Given the description of an element on the screen output the (x, y) to click on. 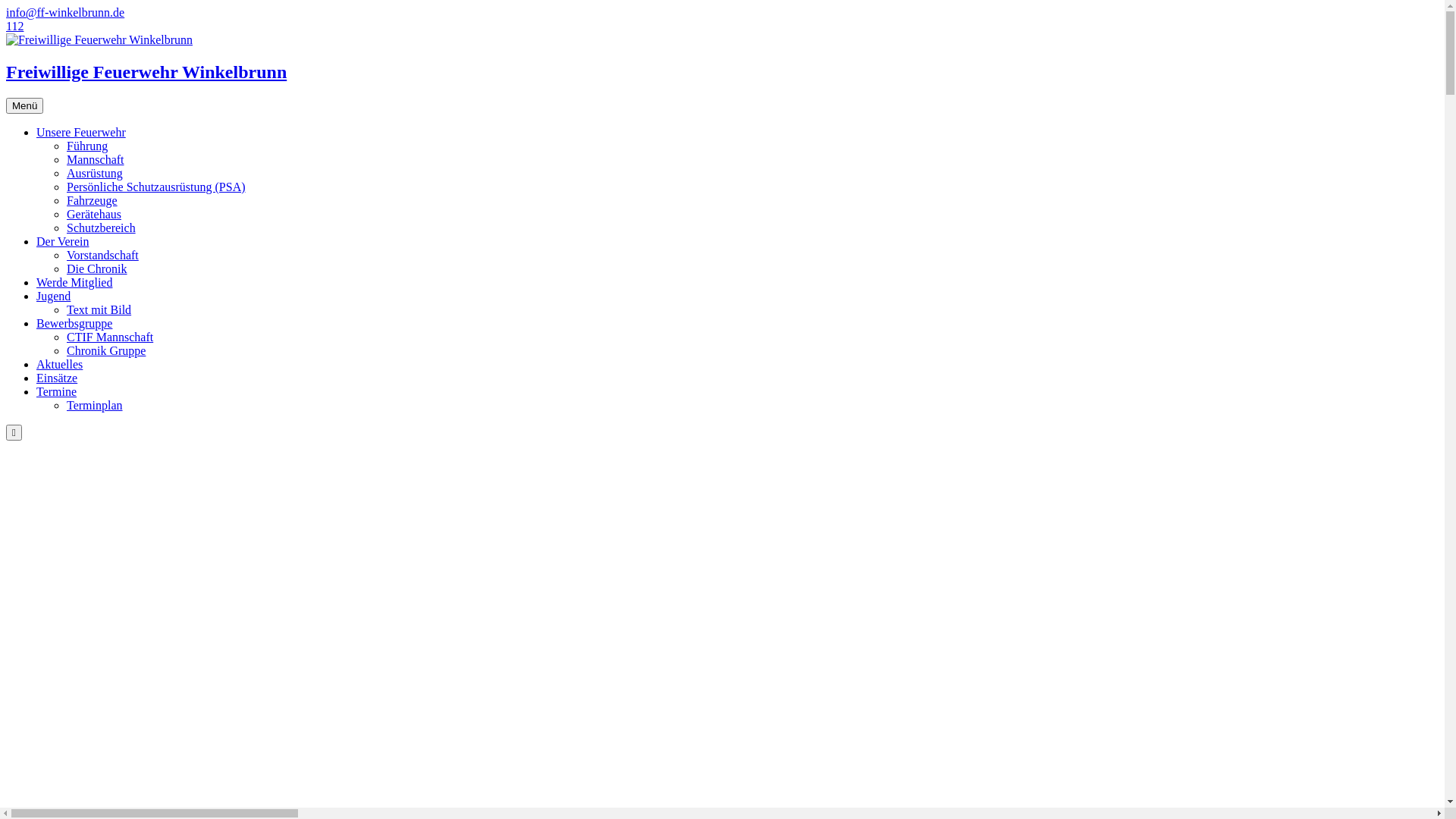
info@ff-winkelbrunn.de Element type: text (65, 12)
Freiwillige Feuerwehr Winkelbrunn Element type: text (722, 57)
Termine Element type: text (56, 391)
Aktuelles Element type: text (59, 363)
Fahrzeuge Element type: text (91, 200)
112 Element type: text (14, 25)
Text mit Bild Element type: text (98, 309)
Werde Mitglied Element type: text (74, 282)
Jugend Element type: text (53, 295)
Vorstandschaft Element type: text (102, 254)
Mannschaft Element type: text (95, 159)
Der Verein Element type: text (62, 241)
Die Chronik Element type: text (96, 268)
Terminplan Element type: text (94, 404)
Chronik Gruppe Element type: text (105, 350)
Bewerbsgruppe Element type: text (74, 322)
Schutzbereich Element type: text (100, 227)
CTIF Mannschaft Element type: text (109, 336)
Unsere Feuerwehr Element type: text (80, 131)
